Given the description of an element on the screen output the (x, y) to click on. 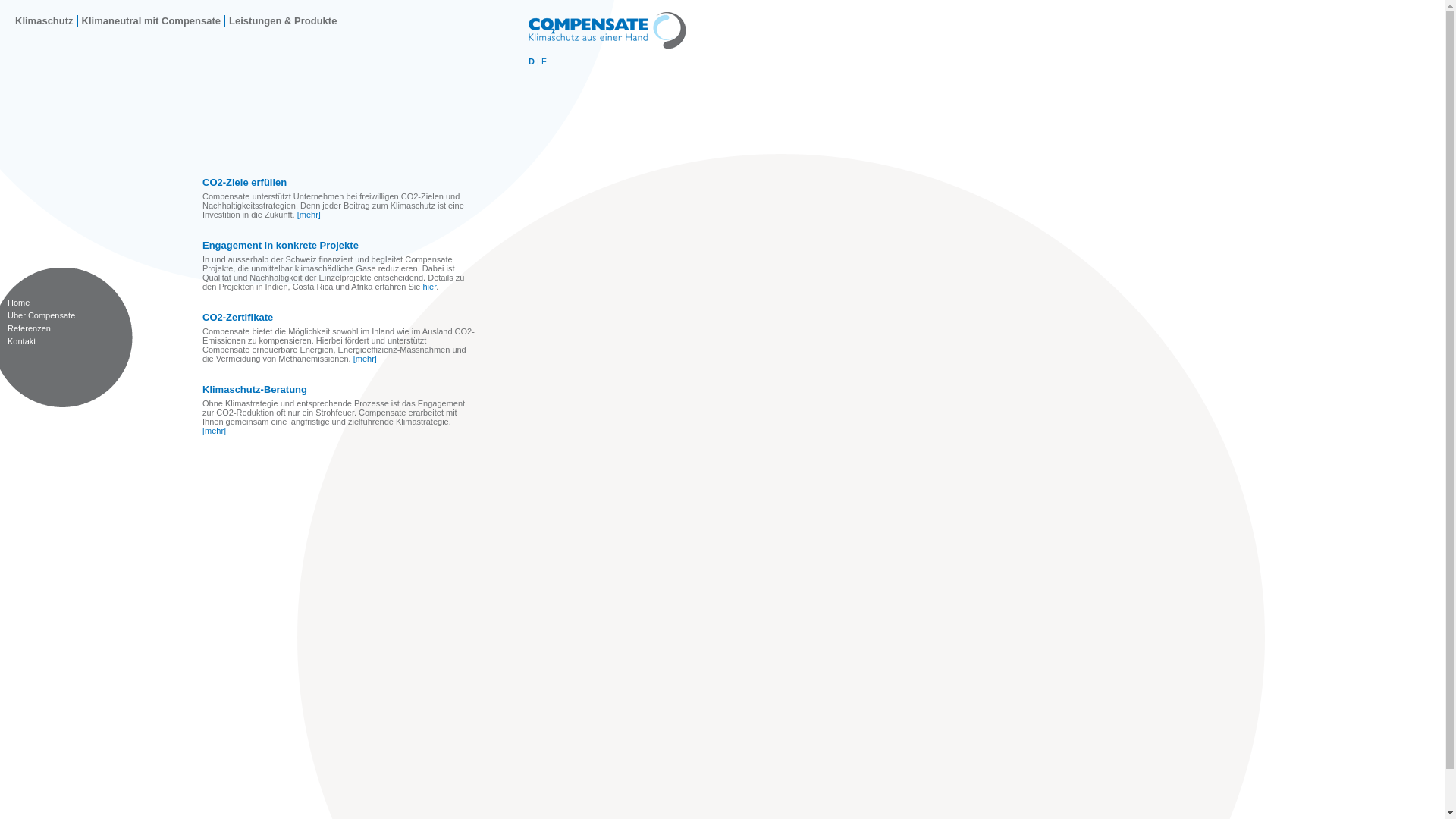
Referenzen Element type: text (28, 327)
F Element type: text (543, 60)
hier Element type: text (429, 286)
Klimaneutral mit Compensate Element type: text (151, 20)
Home Element type: text (18, 302)
Leistungen & Produkte Element type: text (282, 20)
[mehr] Element type: text (213, 430)
[mehr] Element type: text (308, 214)
Klimaschutz Element type: text (44, 20)
[mehr] Element type: text (364, 358)
Kontakt Element type: text (21, 340)
D Element type: text (531, 60)
